Given the description of an element on the screen output the (x, y) to click on. 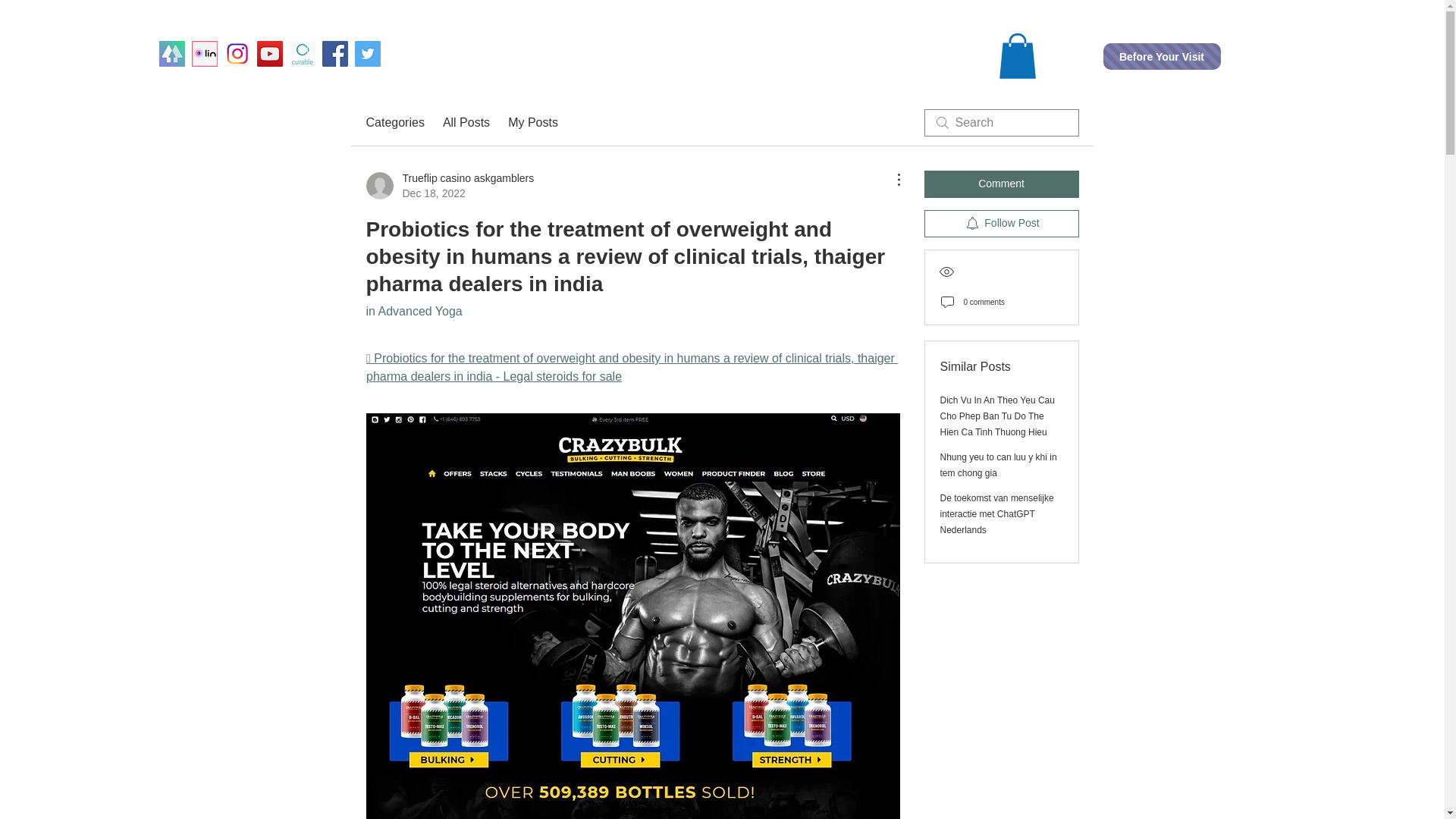
in Advanced Yoga (413, 310)
De toekomst van menselijke interactie met ChatGPT Nederlands (997, 514)
Follow Post (1000, 223)
All Posts (449, 185)
Before Your Visit (465, 122)
Comment (1161, 56)
My Posts (1000, 184)
Categories (532, 122)
